Given the description of an element on the screen output the (x, y) to click on. 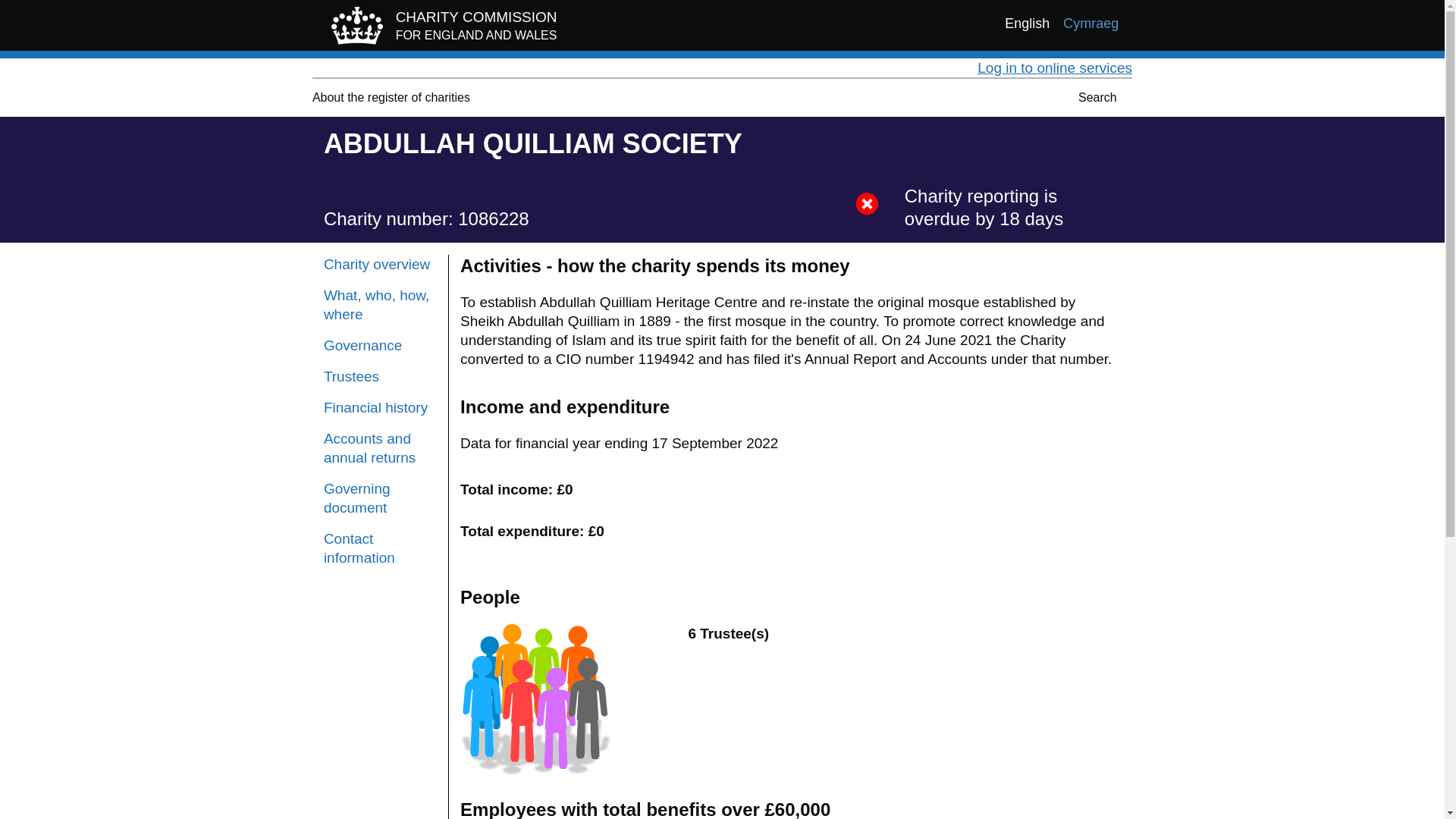
Charity overview (379, 263)
Contact information (379, 548)
About the register of charities (391, 97)
Governance (439, 28)
Trustees (379, 344)
Governing document (379, 375)
About the register of charities (379, 497)
What, who, how, where (391, 97)
Financial history (379, 304)
